Given the description of an element on the screen output the (x, y) to click on. 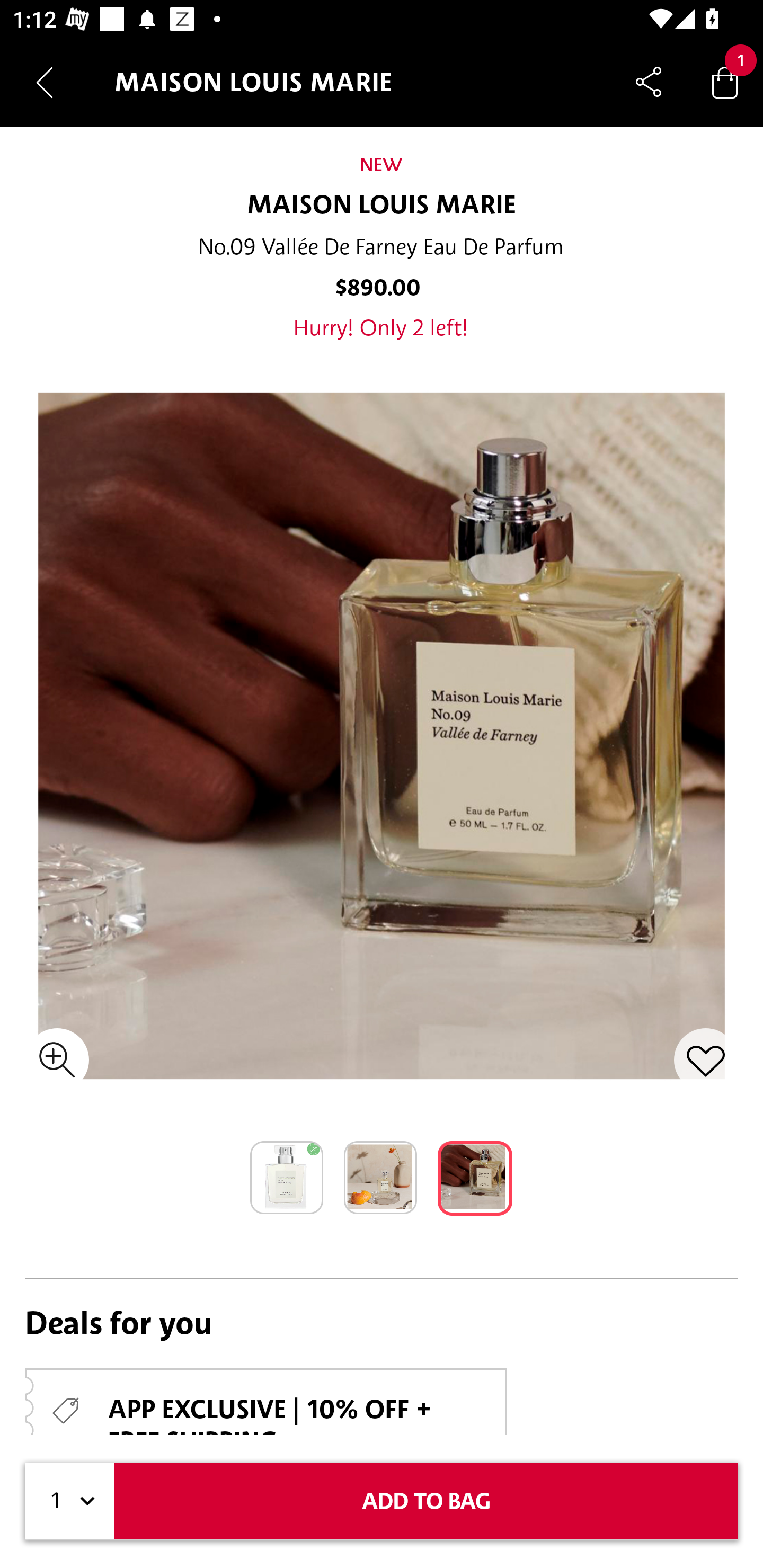
Navigate up (44, 82)
Share (648, 81)
Bag (724, 81)
MAISON LOUIS MARIE (381, 205)
1 (69, 1500)
ADD TO BAG (425, 1500)
